Given the description of an element on the screen output the (x, y) to click on. 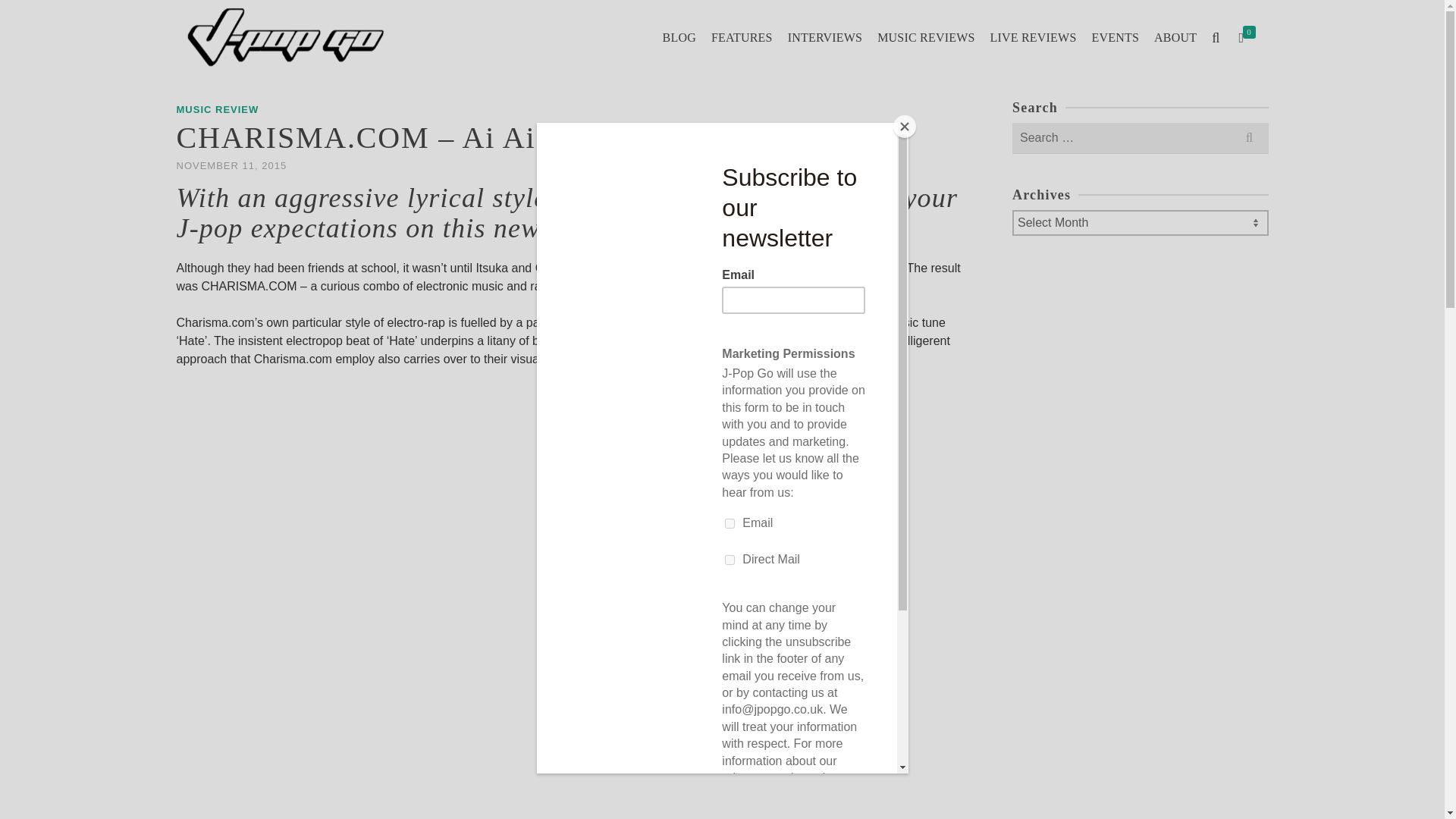
EVENTS (1115, 37)
MUSIC REVIEWS (925, 37)
ABOUT (1175, 37)
BLOG (679, 37)
ABOUT (1175, 37)
INTERVIEWS (824, 37)
HOME (190, 57)
0 (1249, 38)
MUSIC REVIEW (217, 109)
FEATURES (741, 37)
LIVE REVIEWS (1033, 37)
MUSIC REVIEW (252, 57)
